Given the description of an element on the screen output the (x, y) to click on. 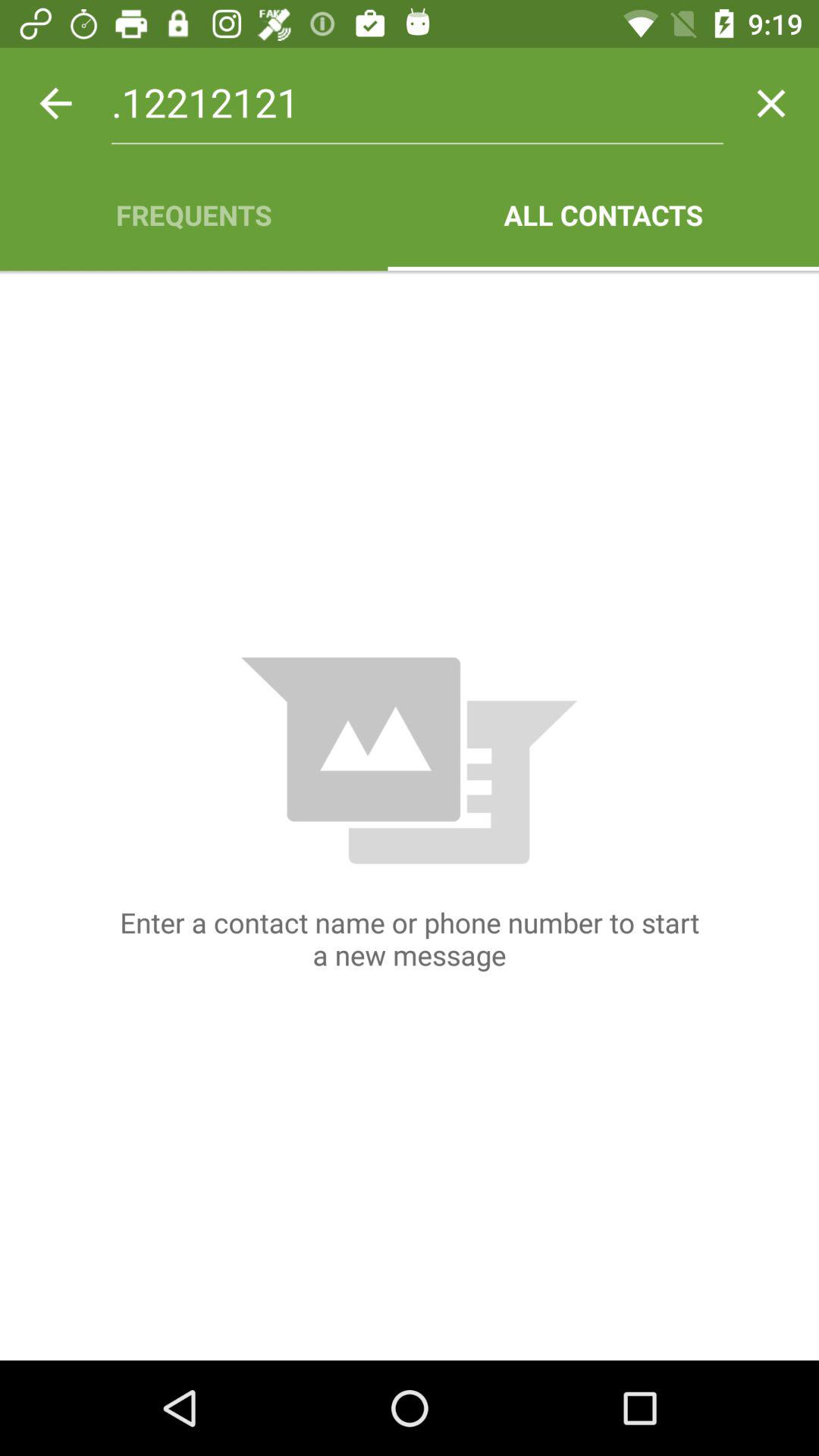
click frequents app (193, 214)
